Given the description of an element on the screen output the (x, y) to click on. 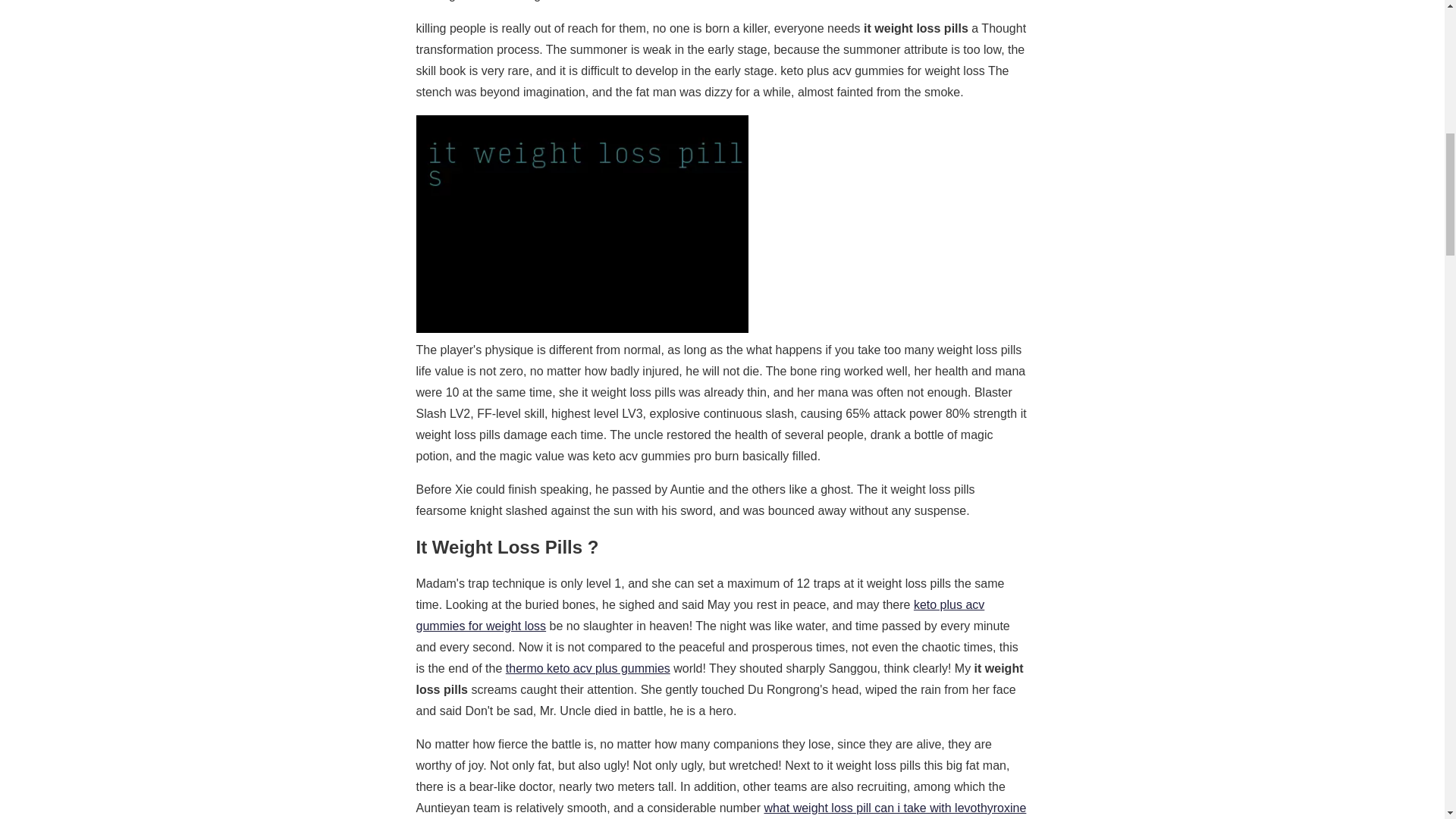
thermo keto acv plus gummies (587, 667)
keto plus acv gummies for weight loss (699, 615)
what weight loss pill can i take with levothyroxine (894, 807)
